Given the description of an element on the screen output the (x, y) to click on. 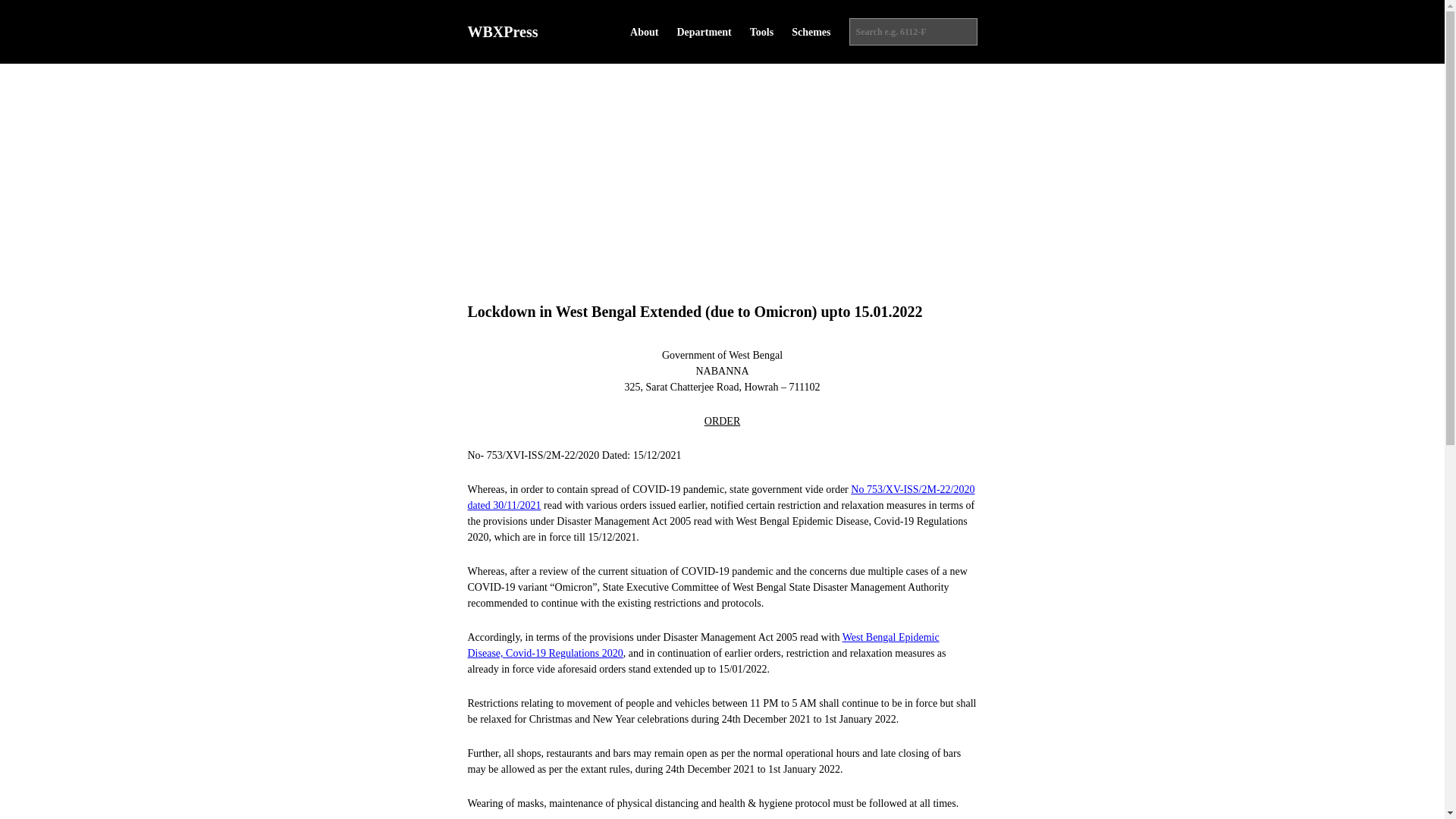
About (644, 32)
Tools (761, 32)
West Bengal Epidemic Disease, Covid-19 Regulations 2020 (703, 645)
Department (703, 32)
Schemes (810, 32)
Advertisement (721, 169)
WBXPress (502, 31)
